Given the description of an element on the screen output the (x, y) to click on. 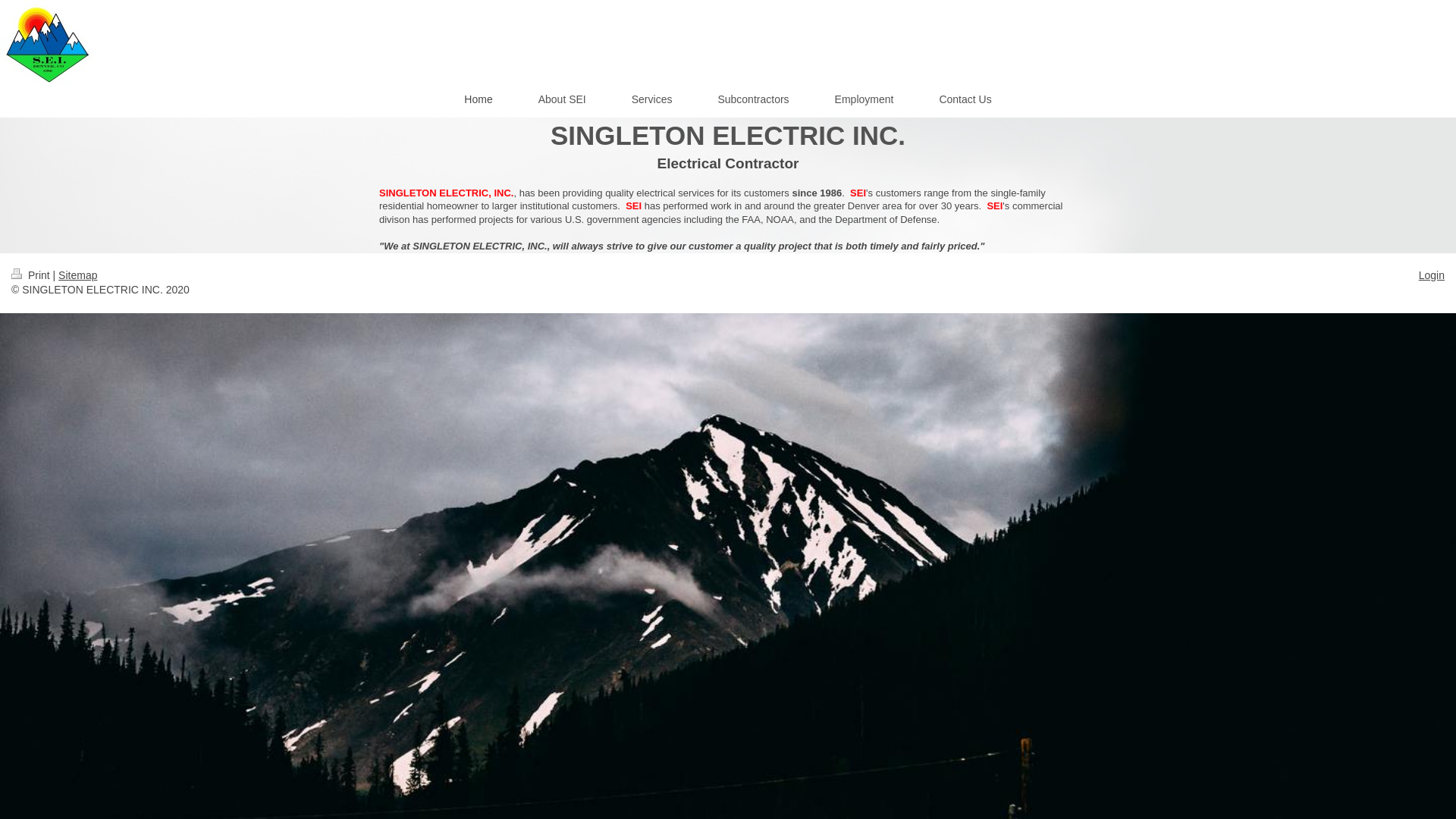
Login (1431, 275)
Home (477, 99)
About SEI (561, 99)
Employment (864, 99)
Print (31, 275)
Services (652, 99)
Contact Us (964, 99)
Subcontractors (752, 99)
Sitemap (77, 275)
